Given the description of an element on the screen output the (x, y) to click on. 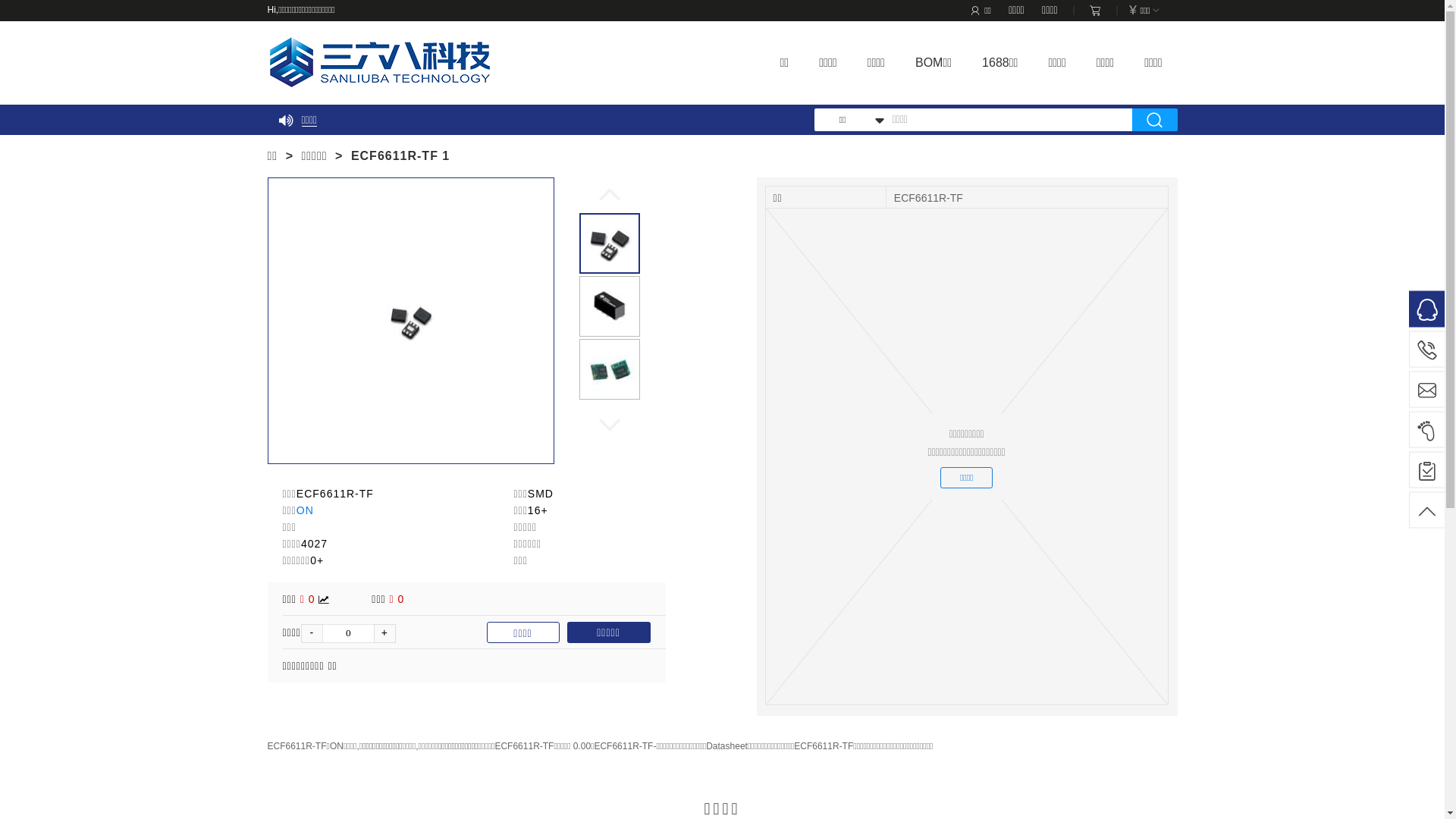
ON Element type: text (304, 510)
ahongsu@163.com Element type: hover (1426, 389)
